Given the description of an element on the screen output the (x, y) to click on. 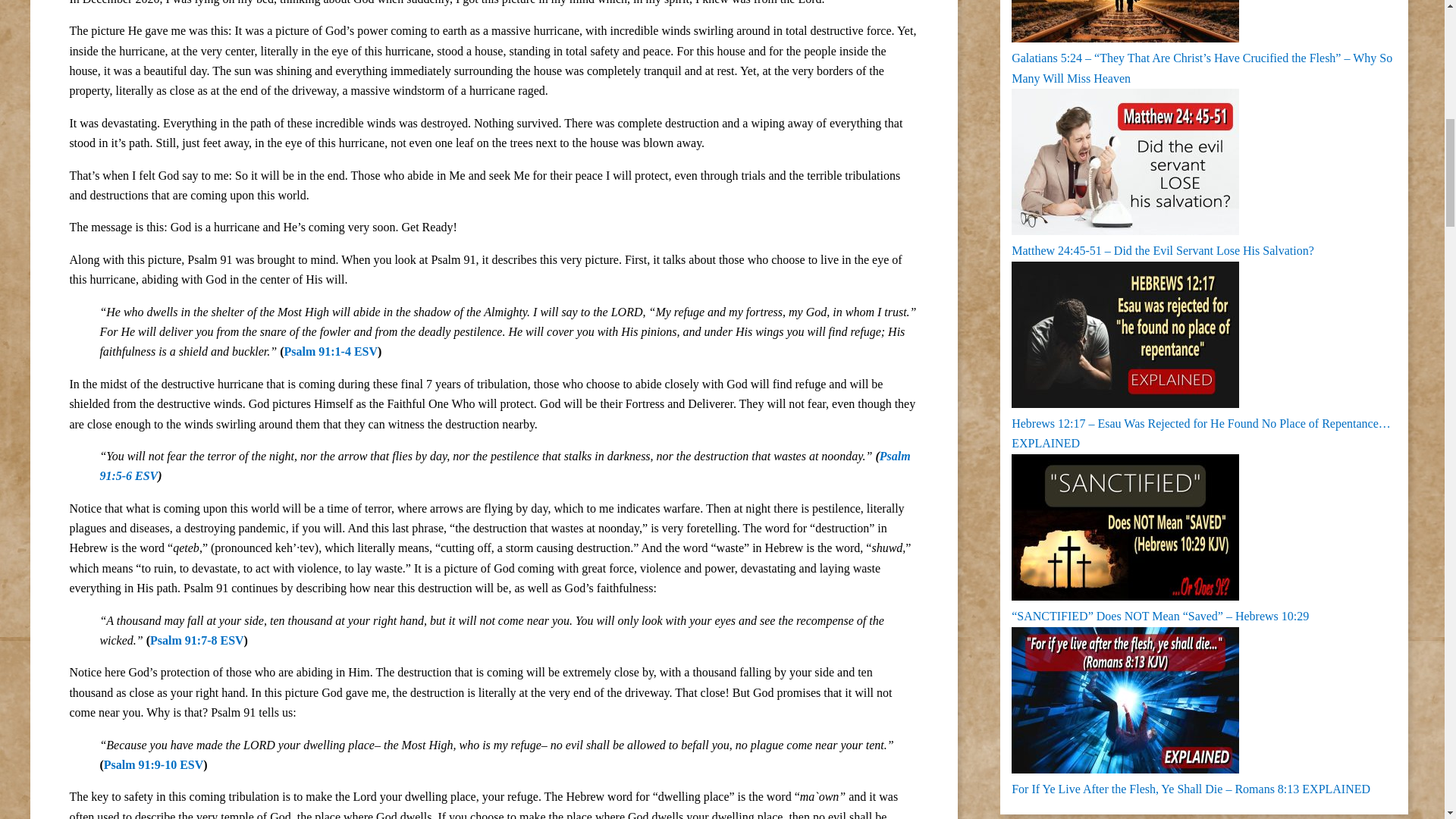
Psalm 91:7-8 ESV (196, 640)
Psalm 91:9-10 ESV (153, 764)
Psalm 91:1-4 ESV (330, 350)
Psalm 91:5-6 ESV (504, 465)
